Given the description of an element on the screen output the (x, y) to click on. 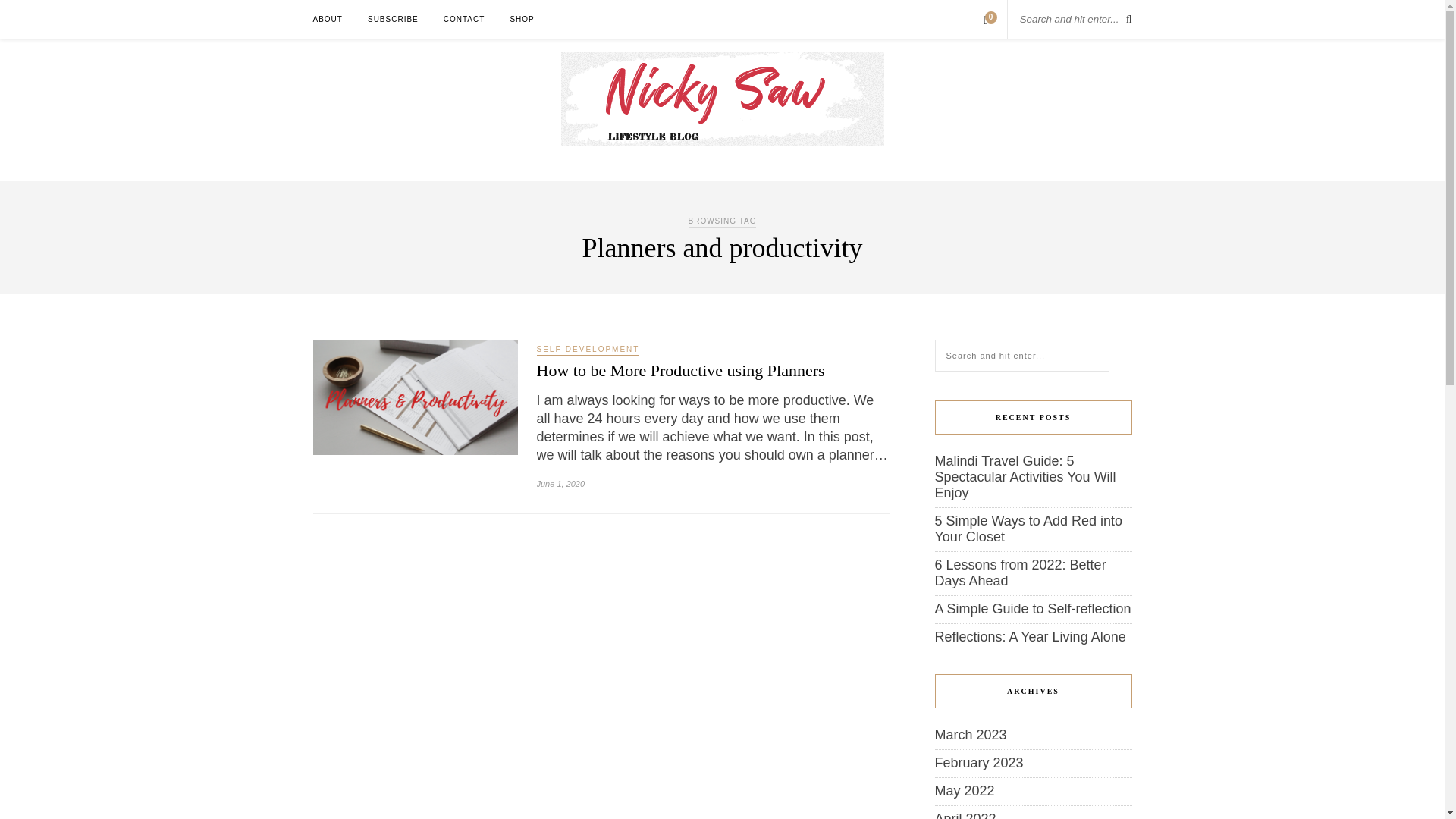
6 Lessons from 2022: Better Days Ahead (1019, 572)
SELF-DEVELOPMENT (588, 349)
April 2022 (964, 815)
SUBSCRIBE (393, 19)
Reflections: A Year Living Alone (1029, 636)
5 Simple Ways to Add Red into Your Closet (1027, 528)
March 2023 (970, 734)
View all posts in Self-Development (588, 349)
May 2022 (964, 790)
A Simple Guide to Self-reflection (1032, 608)
How to be More Productive using Planners (681, 370)
February 2023 (978, 762)
CONTACT (464, 19)
